Given the description of an element on the screen output the (x, y) to click on. 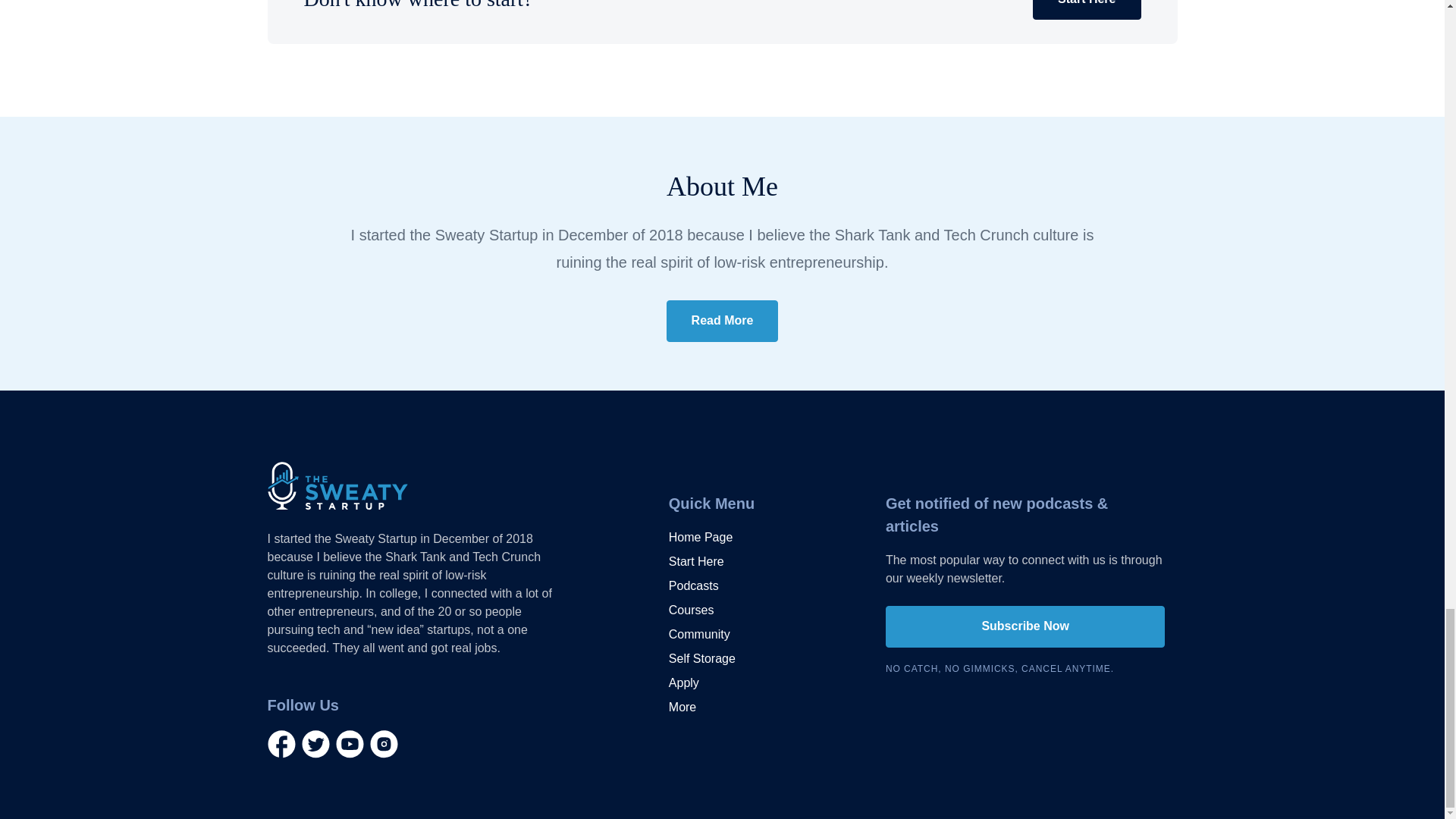
Home Page (700, 537)
Apply (683, 683)
Read More (722, 321)
Community (699, 634)
Self Storage (701, 659)
Courses (691, 610)
Start Here (1086, 9)
Start Here (695, 561)
Podcasts (693, 586)
